Given the description of an element on the screen output the (x, y) to click on. 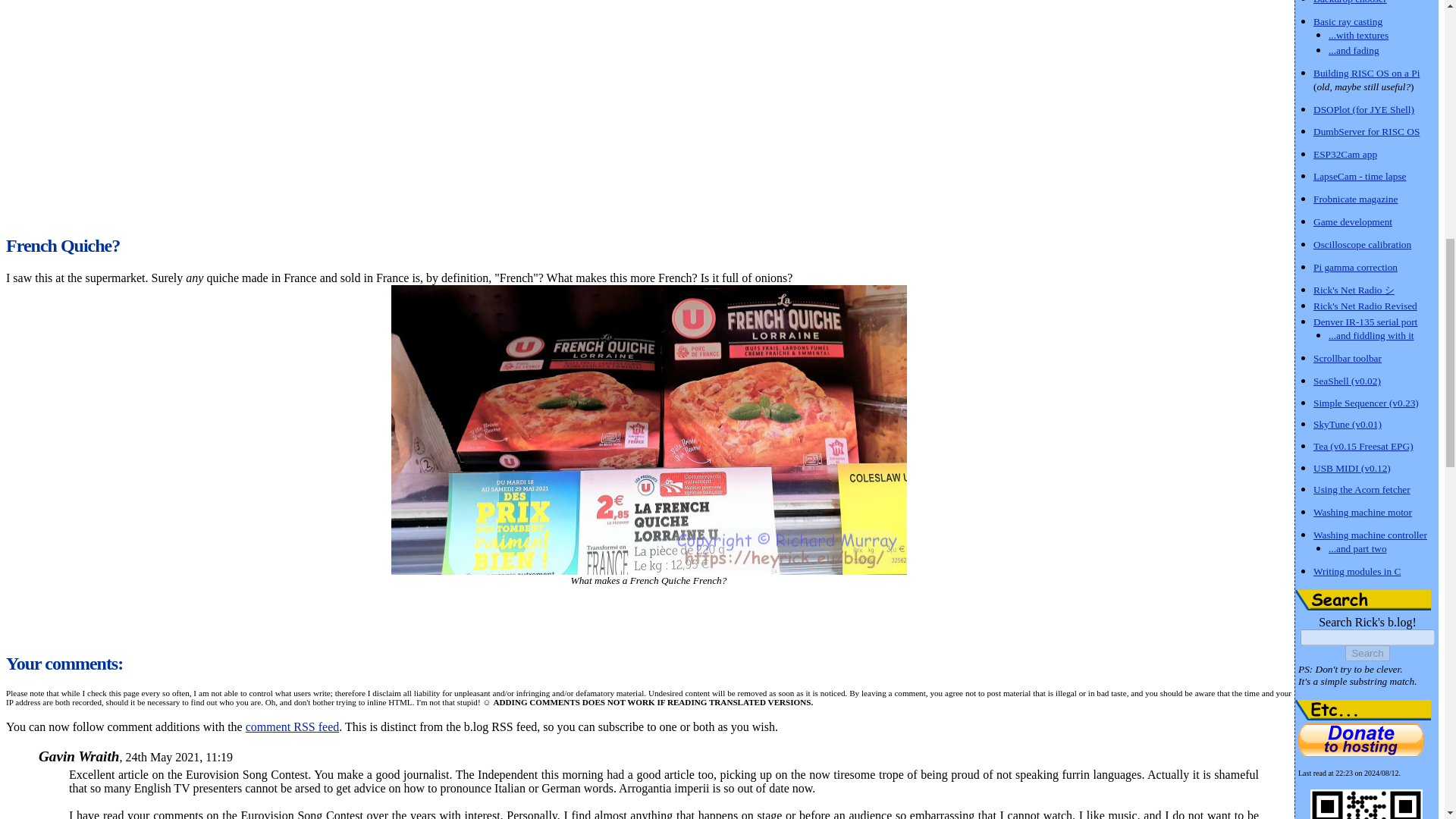
Search (1367, 652)
Search (1363, 599)
Etc... (1363, 710)
comment RSS feed (292, 726)
